Given the description of an element on the screen output the (x, y) to click on. 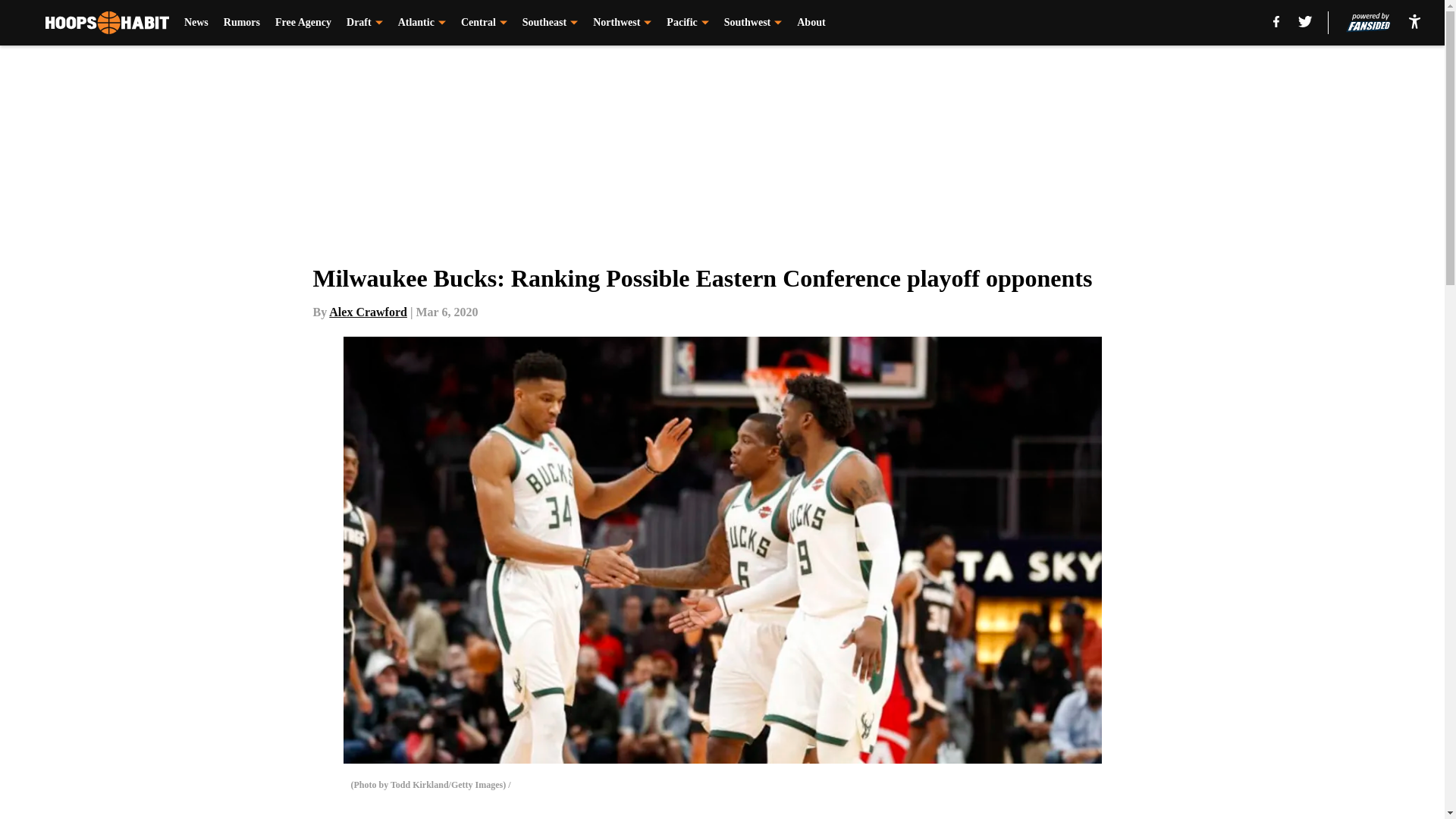
Free Agency (303, 22)
Draft (364, 22)
News (196, 22)
Atlantic (421, 22)
Northwest (621, 22)
Southeast (550, 22)
Rumors (242, 22)
Central (483, 22)
